Given the description of an element on the screen output the (x, y) to click on. 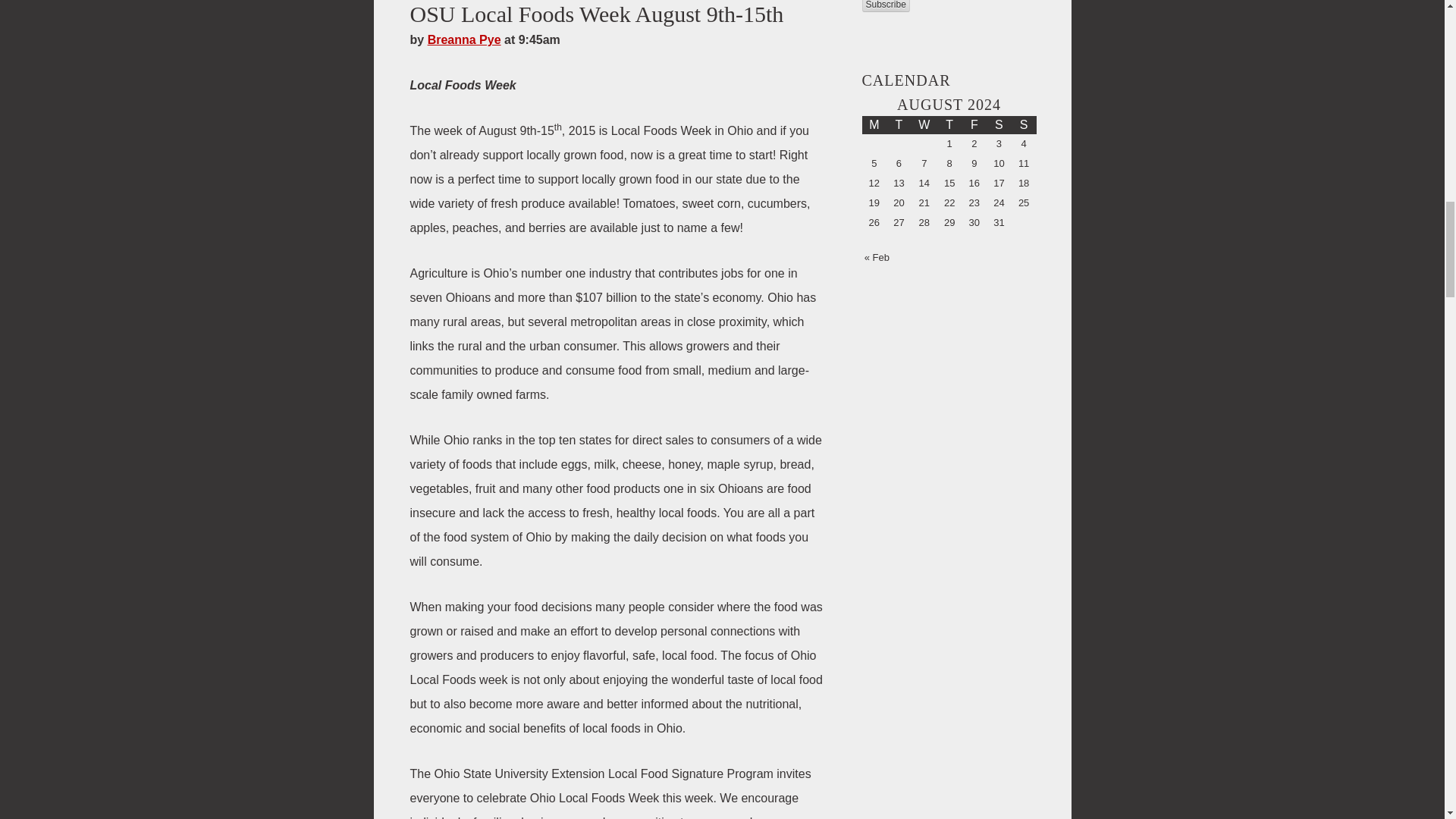
Thursday (949, 125)
Saturday (999, 125)
Monday (873, 125)
Subscribe (884, 6)
View all posts by Breanna Pye (464, 39)
Subscribe me! (1027, 291)
OSU Local Foods Week August 9th-15th (596, 13)
Tuesday (898, 125)
Wednesday (924, 125)
Friday (973, 125)
